Given the description of an element on the screen output the (x, y) to click on. 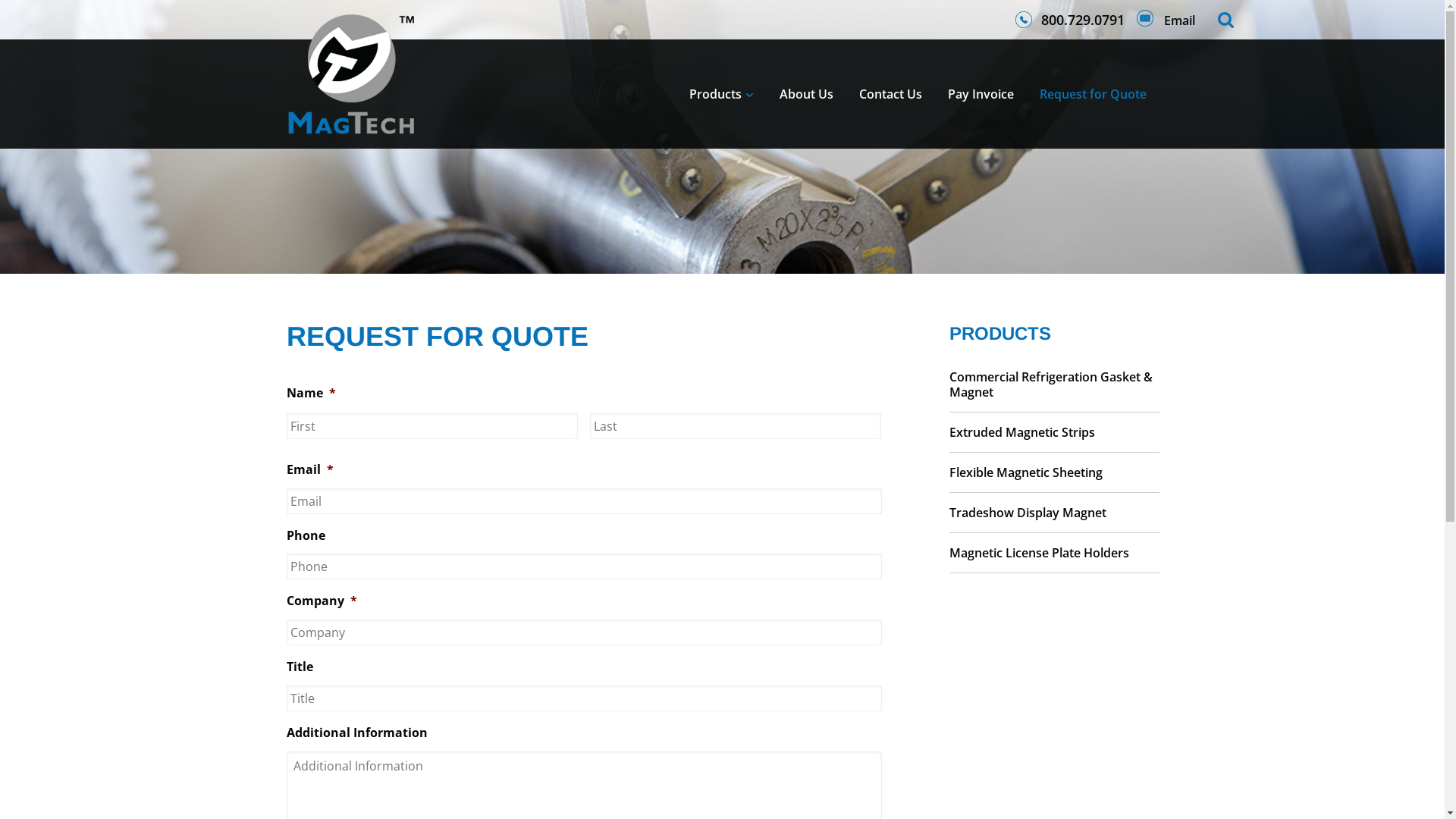
Pay Invoice Element type: text (980, 93)
Tradeshow Display Magnet Element type: text (1053, 512)
Extruded Magnetic Strips Element type: text (1053, 431)
Flexible Magnetic Sheeting Element type: text (1053, 471)
Products Element type: text (721, 93)
Magnetic License Plate Holders Element type: text (1053, 551)
Contact Us Element type: text (890, 93)
About Us Element type: text (805, 93)
Email Element type: text (1164, 20)
Request for Quote Element type: text (1092, 93)
Magnet Technology Element type: hover (351, 74)
Commercial Refrigeration Gasket & Magnet Element type: text (1053, 383)
800.729.0791 Element type: text (1068, 19)
